Given the description of an element on the screen output the (x, y) to click on. 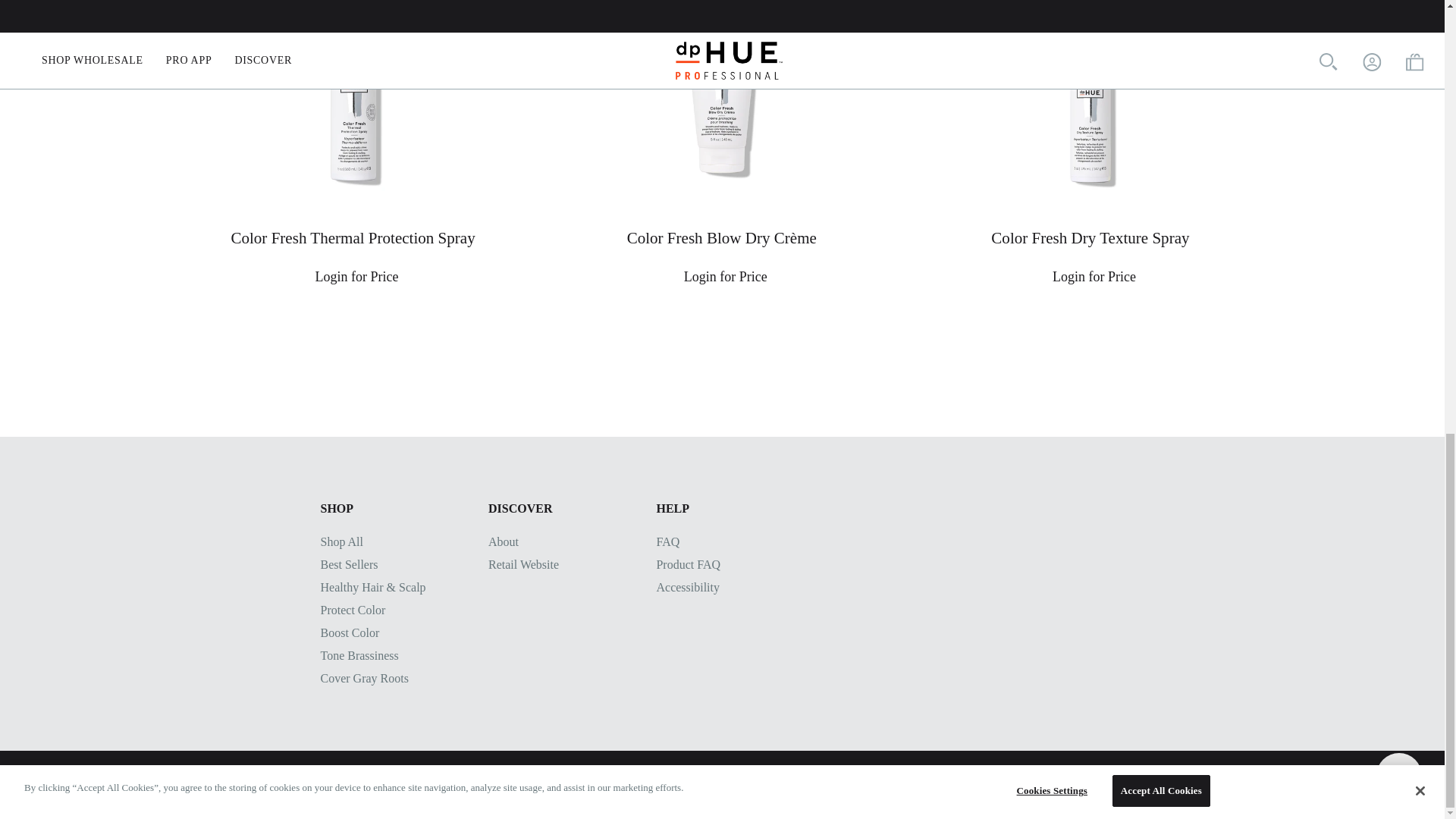
dpHUE on Facebook (327, 783)
dpHUE on Instagram (367, 783)
dpHUE on YouTube (406, 783)
